Given the description of an element on the screen output the (x, y) to click on. 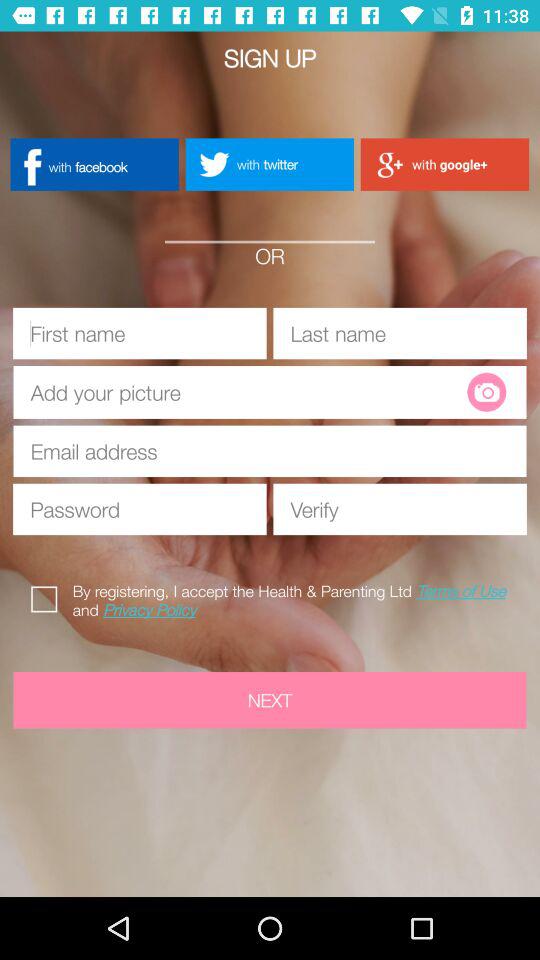
go to mail id (269, 451)
